Given the description of an element on the screen output the (x, y) to click on. 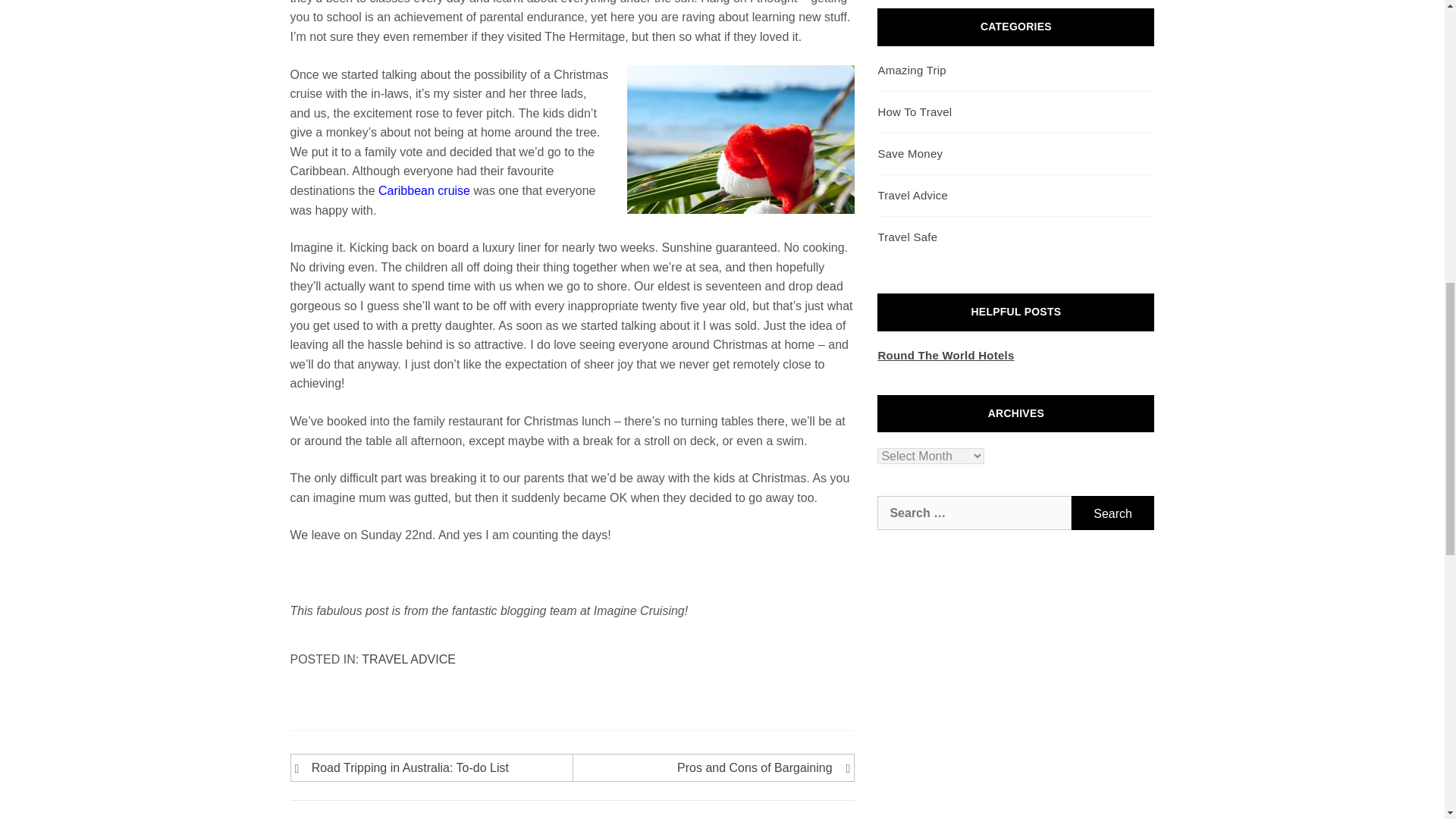
Round The World Hotels (945, 354)
Search (1112, 512)
Search (1112, 512)
Search (1112, 512)
Road Tripping in Australia: To-do List (434, 768)
TRAVEL ADVICE (408, 658)
Travel Advice (912, 195)
Amazing Trip (911, 69)
Travel Safe (907, 236)
Pros and Cons of Bargaining (710, 768)
How To Travel (914, 111)
Save Money (909, 153)
